Given the description of an element on the screen output the (x, y) to click on. 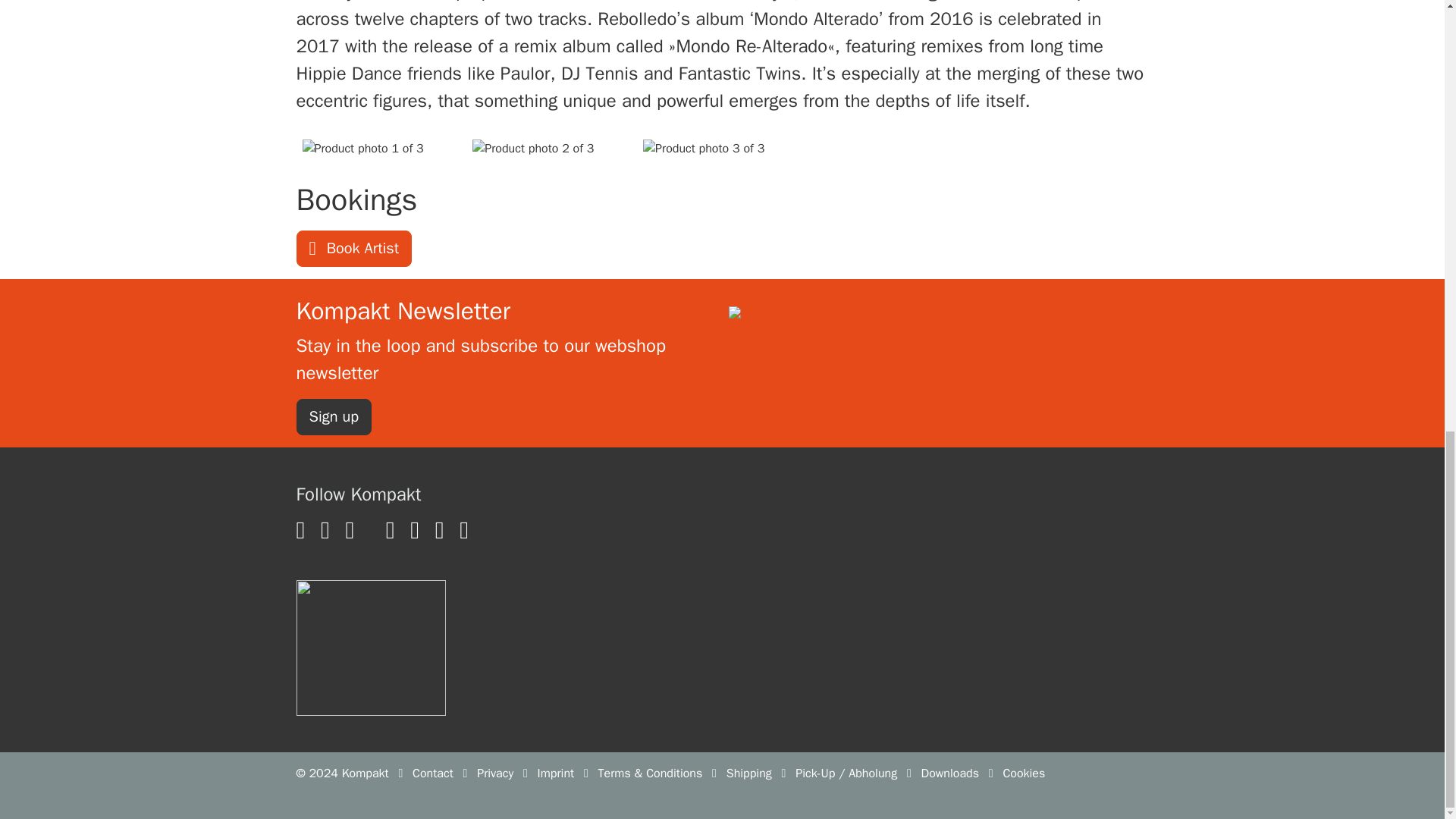
Sign up (333, 416)
Book Artist (353, 248)
